Given the description of an element on the screen output the (x, y) to click on. 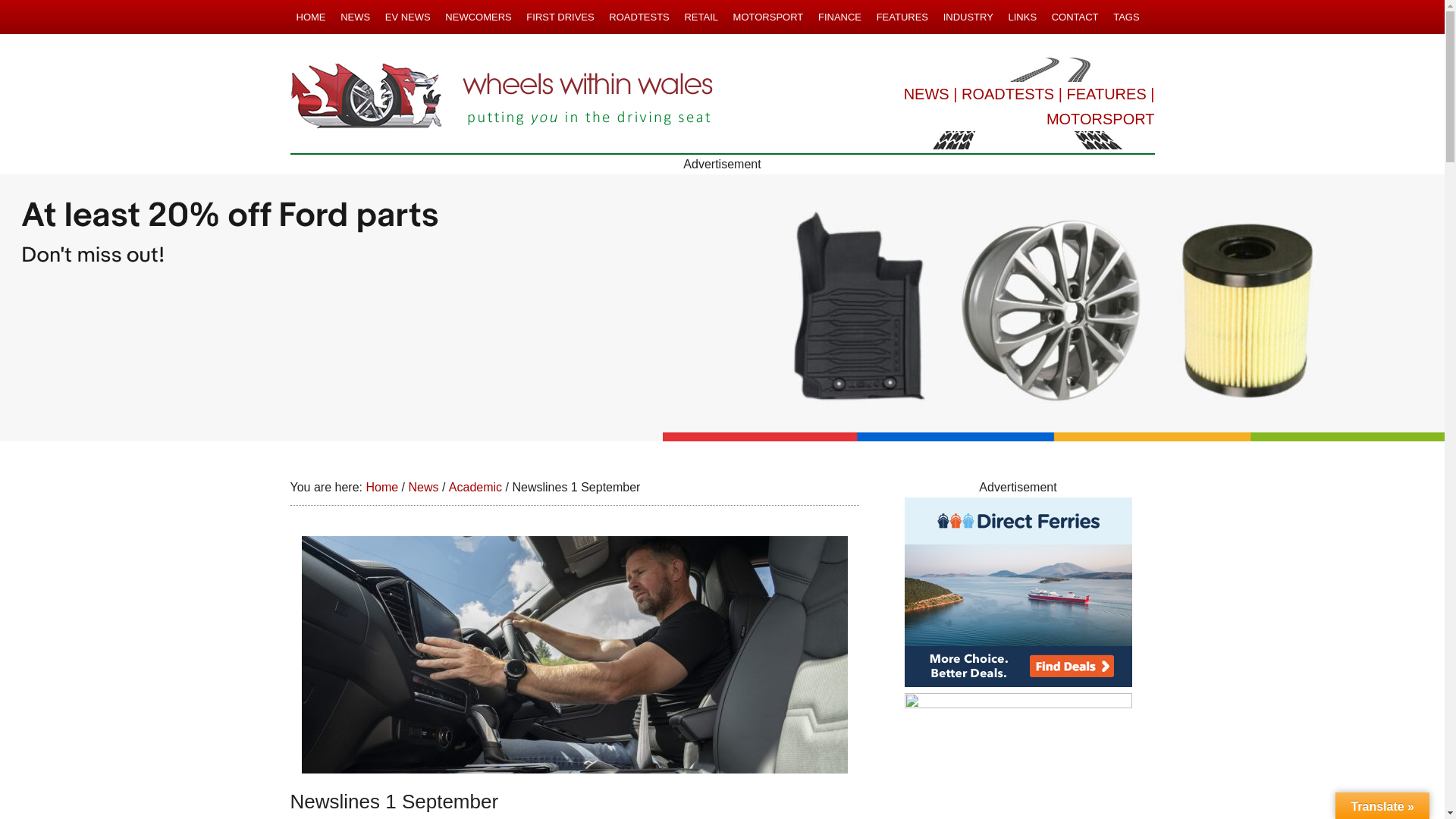
CONTACT (1075, 17)
LINKS (1021, 17)
INDUSTRY (967, 17)
TAGS (1125, 17)
NEWS (926, 93)
NEWS (354, 17)
HOME (310, 17)
MOTORSPORT (767, 17)
Home (381, 486)
Academic (475, 486)
FEATURES (902, 17)
MOTORSPORT (1100, 118)
FINANCE (839, 17)
Wheels Within Wales (501, 96)
FEATURES (1107, 93)
